Given the description of an element on the screen output the (x, y) to click on. 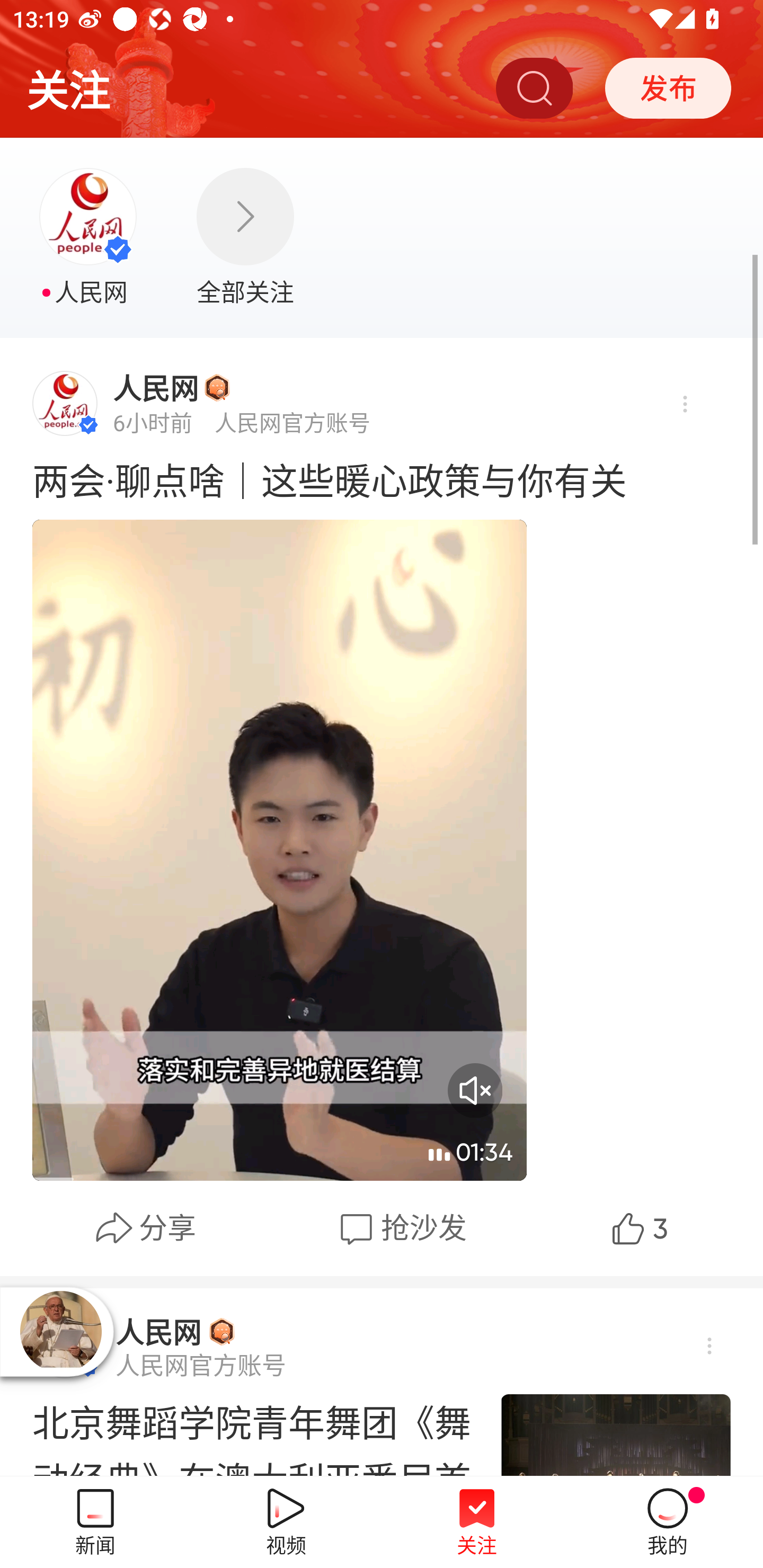
搜索 关注 (534, 87)
发布 关注 (667, 87)
关注 (67, 87)
人民网，可点击 (90, 237)
全部关注，可点击 (244, 237)
人民网 (155, 387)
勋章 (216, 387)
 不感兴趣 (683, 404)
6小时前　人民网官方账号 (241, 422)
两会·聊点啥｜这些暖心政策与你有关 (381, 478)
音量开关 (474, 1090)
分享  分享 (144, 1228)
抢沙发  抢沙发 (400, 1228)
3赞 (637, 1228)
人民网 勋章 人民网官方账号  不感兴趣 北京舞蹈学院青年舞团《舞动经典》在澳大利亚悉尼首演 (381, 1382)
播放器 (60, 1331)
人民网 (158, 1331)
勋章 (221, 1331)
 不感兴趣 (707, 1345)
人民网官方账号 (200, 1365)
